Given the description of an element on the screen output the (x, y) to click on. 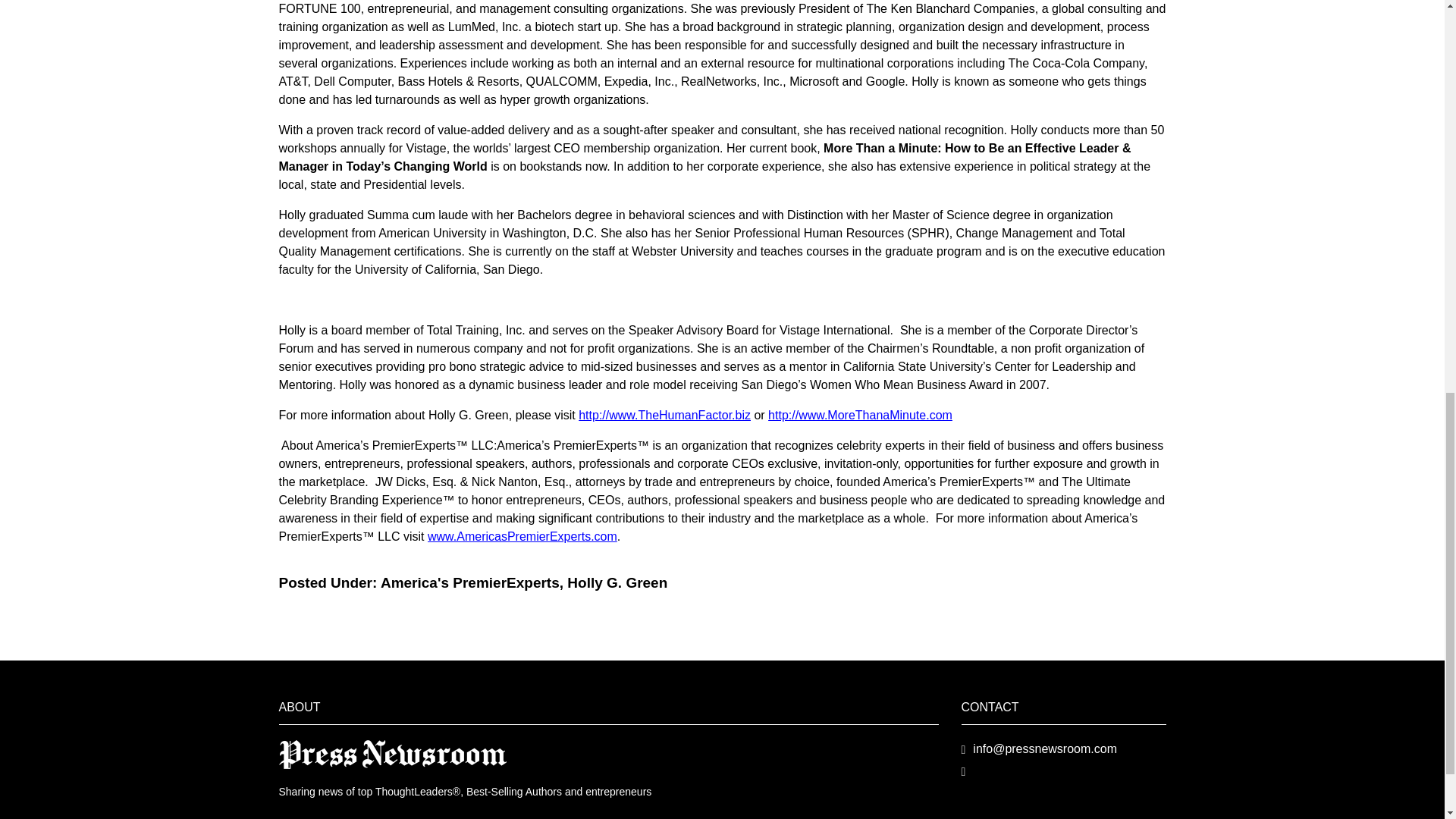
www.AmericasPremierExperts.com (522, 535)
Holly G. Green (616, 582)
America's PremierExperts (469, 582)
PressNewsRoom (392, 753)
